Given the description of an element on the screen output the (x, y) to click on. 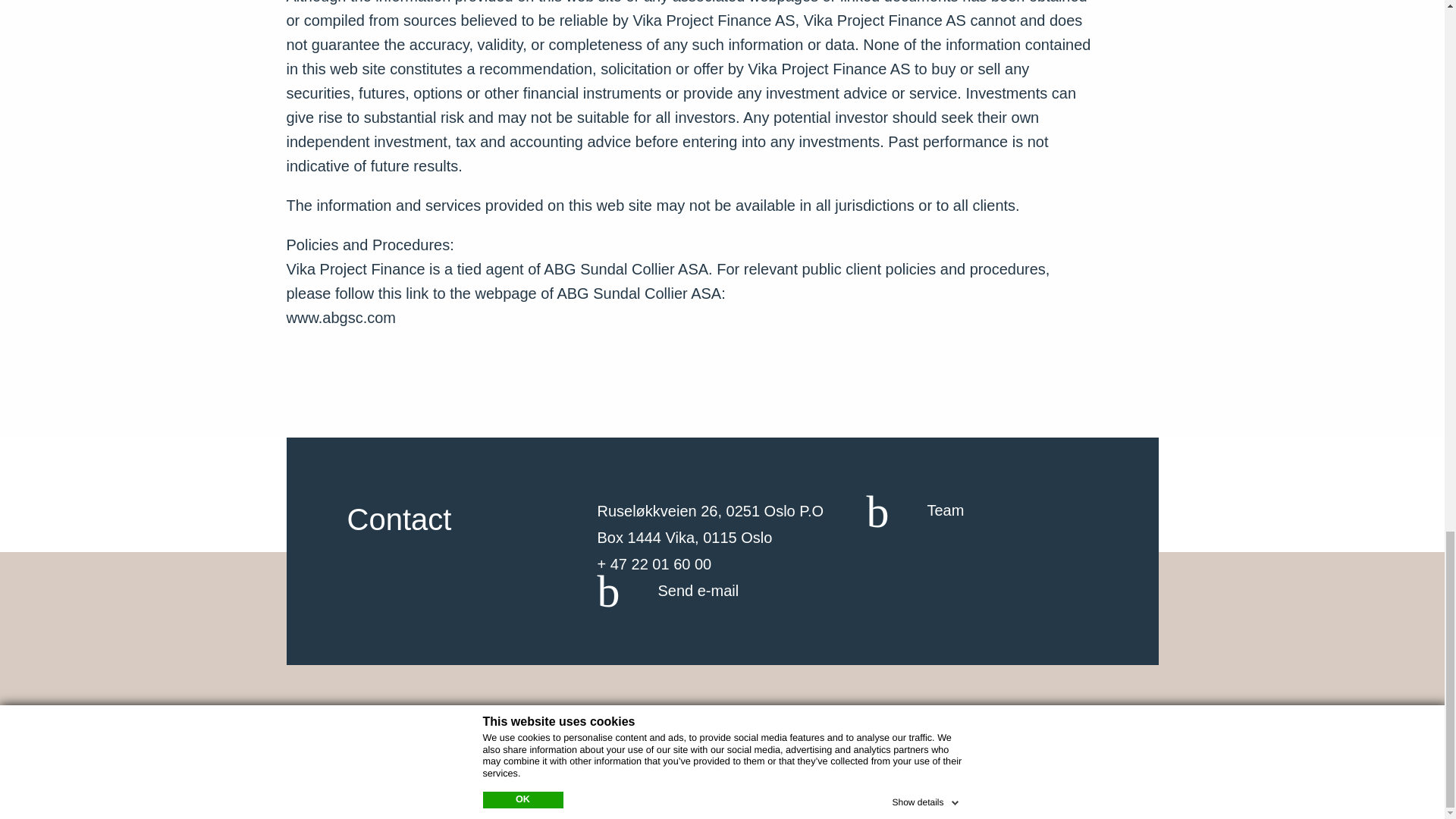
Legal information (713, 720)
Send e-mail (667, 591)
Design Container (516, 768)
Team (914, 509)
Disclaimer (820, 720)
